Given the description of an element on the screen output the (x, y) to click on. 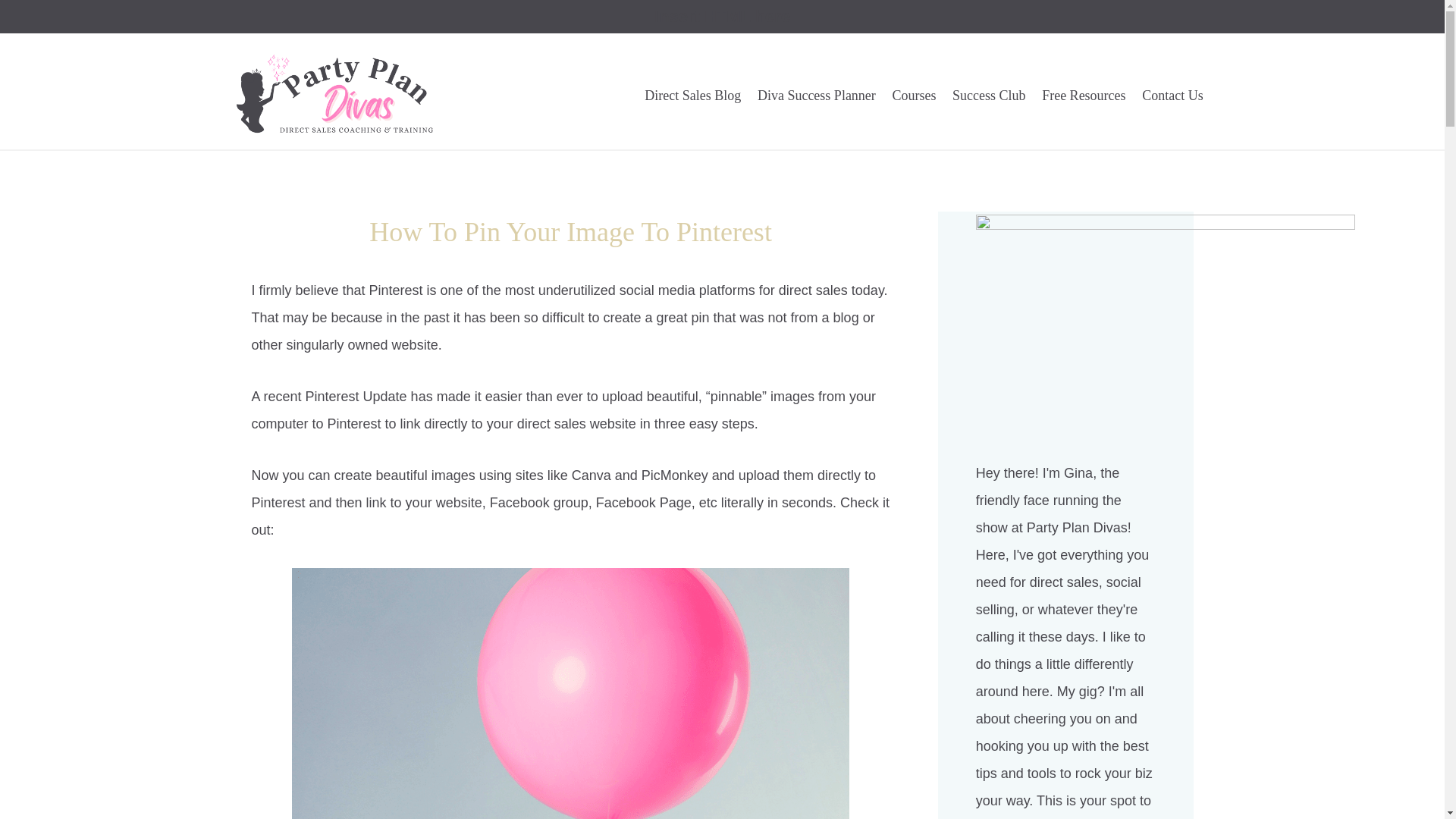
Courses (913, 95)
Contact Us (1172, 95)
Diva Success Planner (816, 95)
Direct Sales Blog (693, 95)
Free Resources (1083, 95)
Success Club (988, 95)
